Given the description of an element on the screen output the (x, y) to click on. 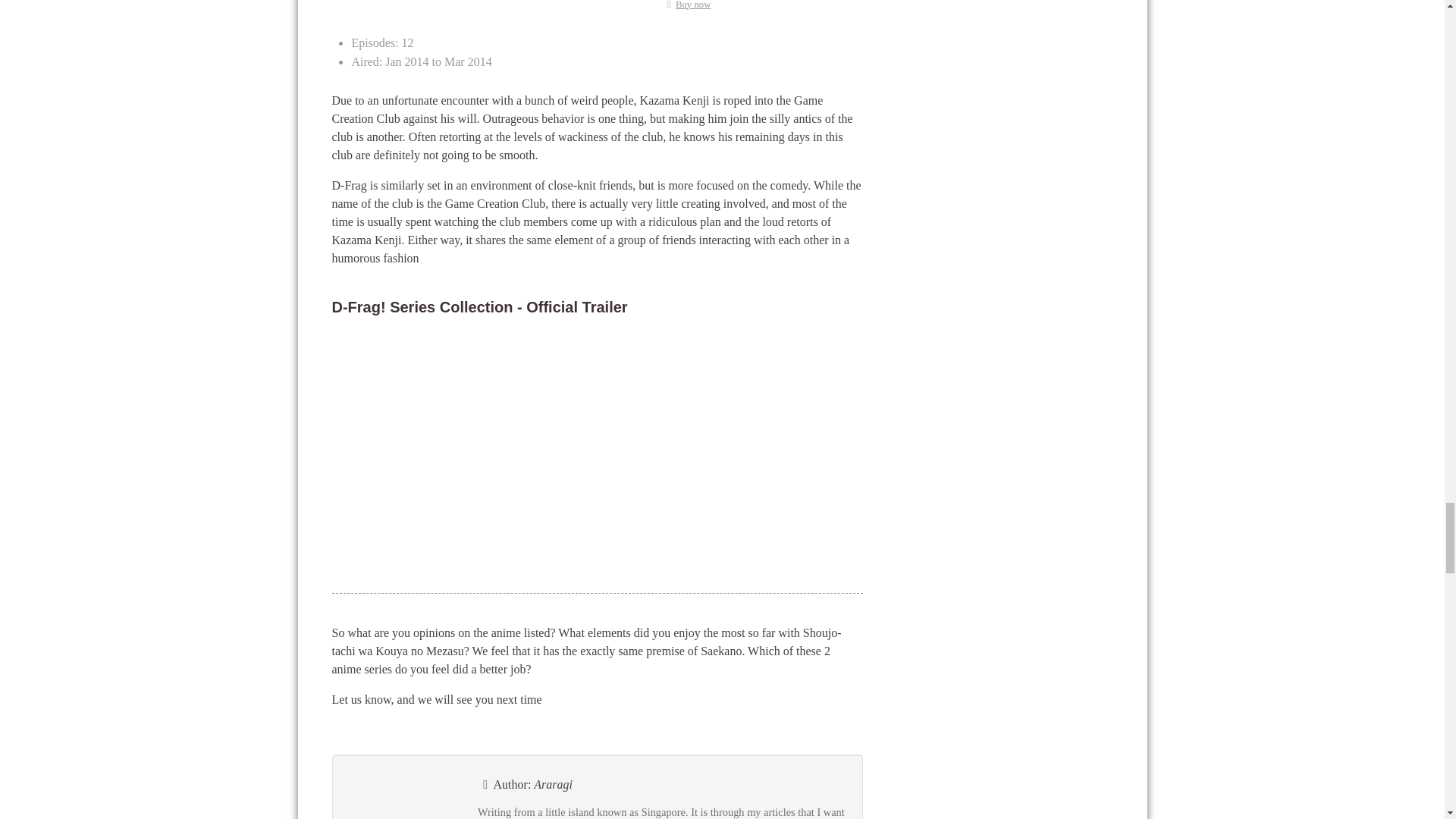
Buy now (686, 4)
